Given the description of an element on the screen output the (x, y) to click on. 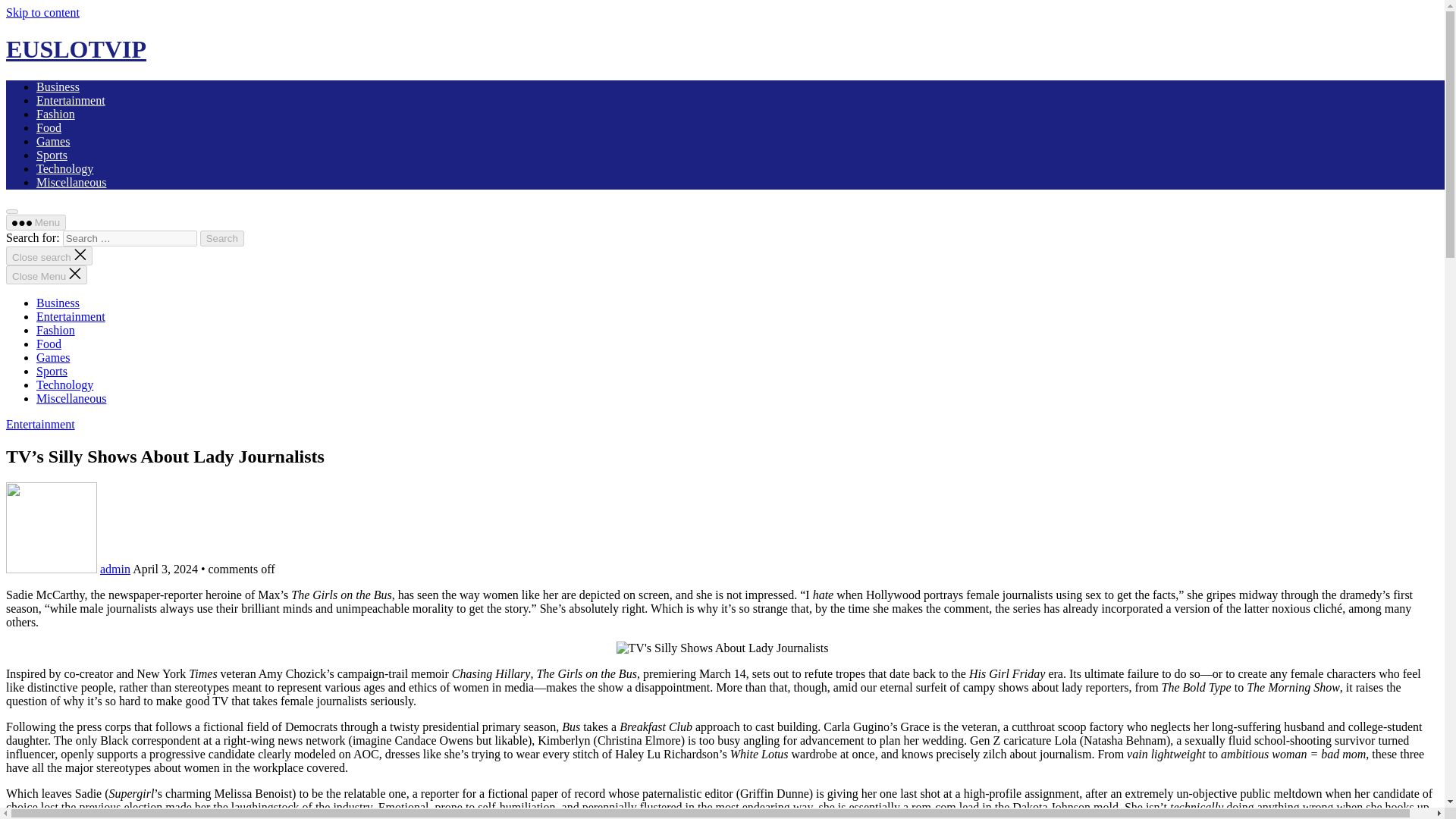
TV's Silly Shows About Lady Journalists (721, 648)
Sports (51, 154)
Games (52, 357)
Search (222, 238)
Entertainment (70, 100)
Sports (51, 370)
Games (52, 141)
Menu (35, 222)
Entertainment (40, 423)
Business (58, 302)
Entertainment (70, 316)
Food (48, 127)
Miscellaneous (71, 182)
Close search (49, 255)
Close Menu (46, 274)
